Given the description of an element on the screen output the (x, y) to click on. 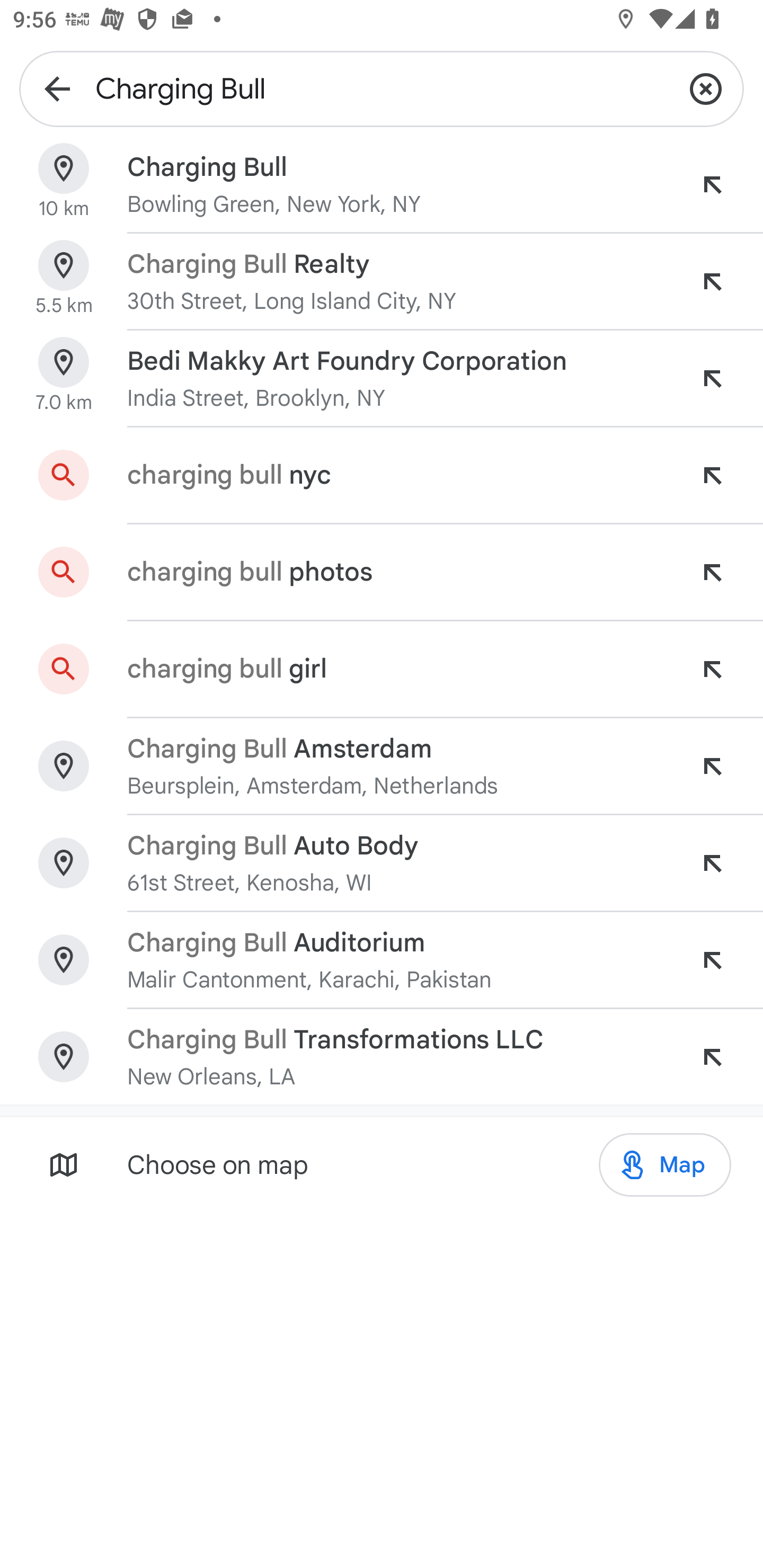
Navigate up (57, 88)
Charging Bull (381, 88)
Clear (705, 88)
Choose on map Map Map Map (381, 1164)
Map Map Map (664, 1164)
